Given the description of an element on the screen output the (x, y) to click on. 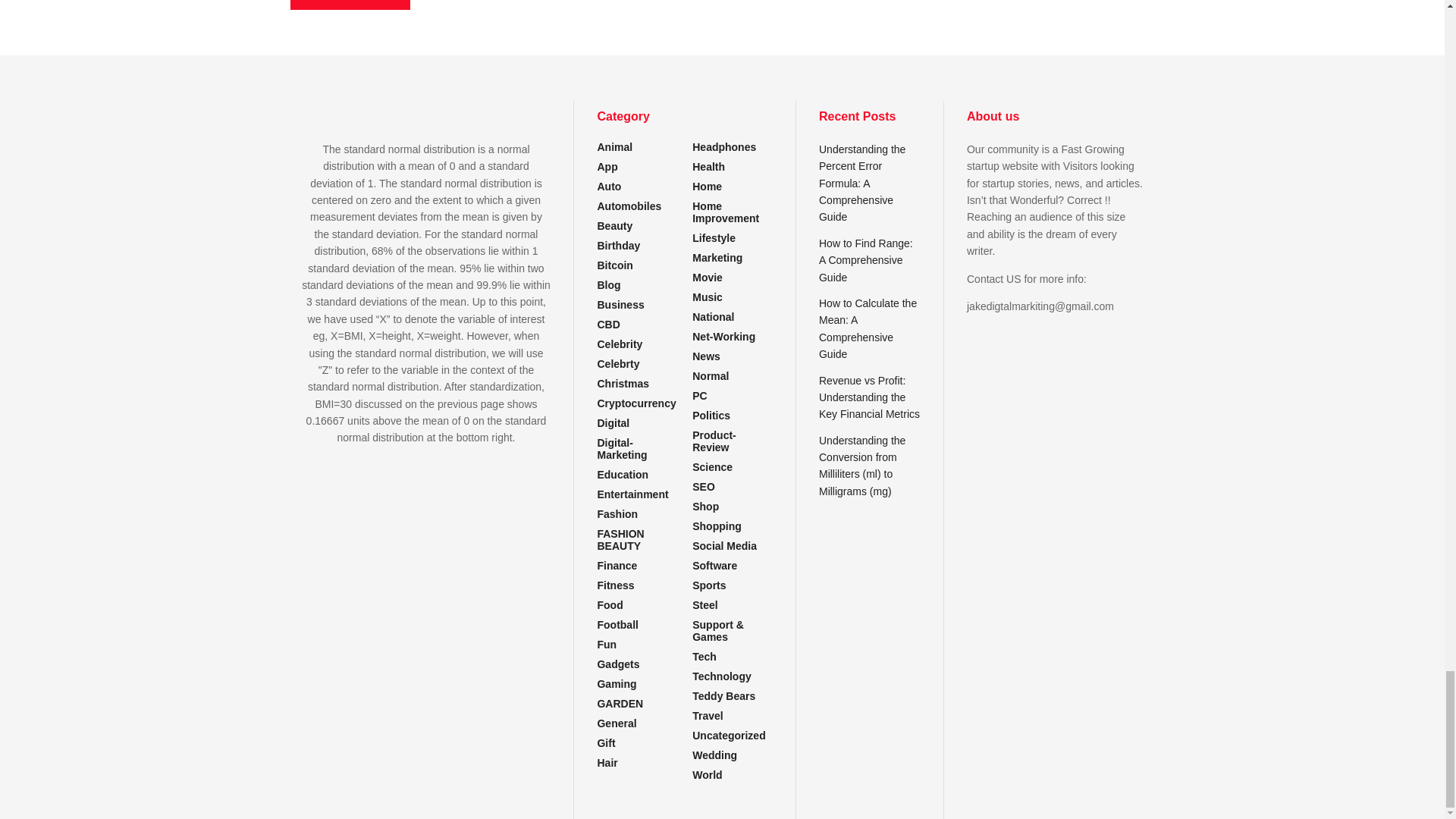
Post Comment (349, 4)
